Given the description of an element on the screen output the (x, y) to click on. 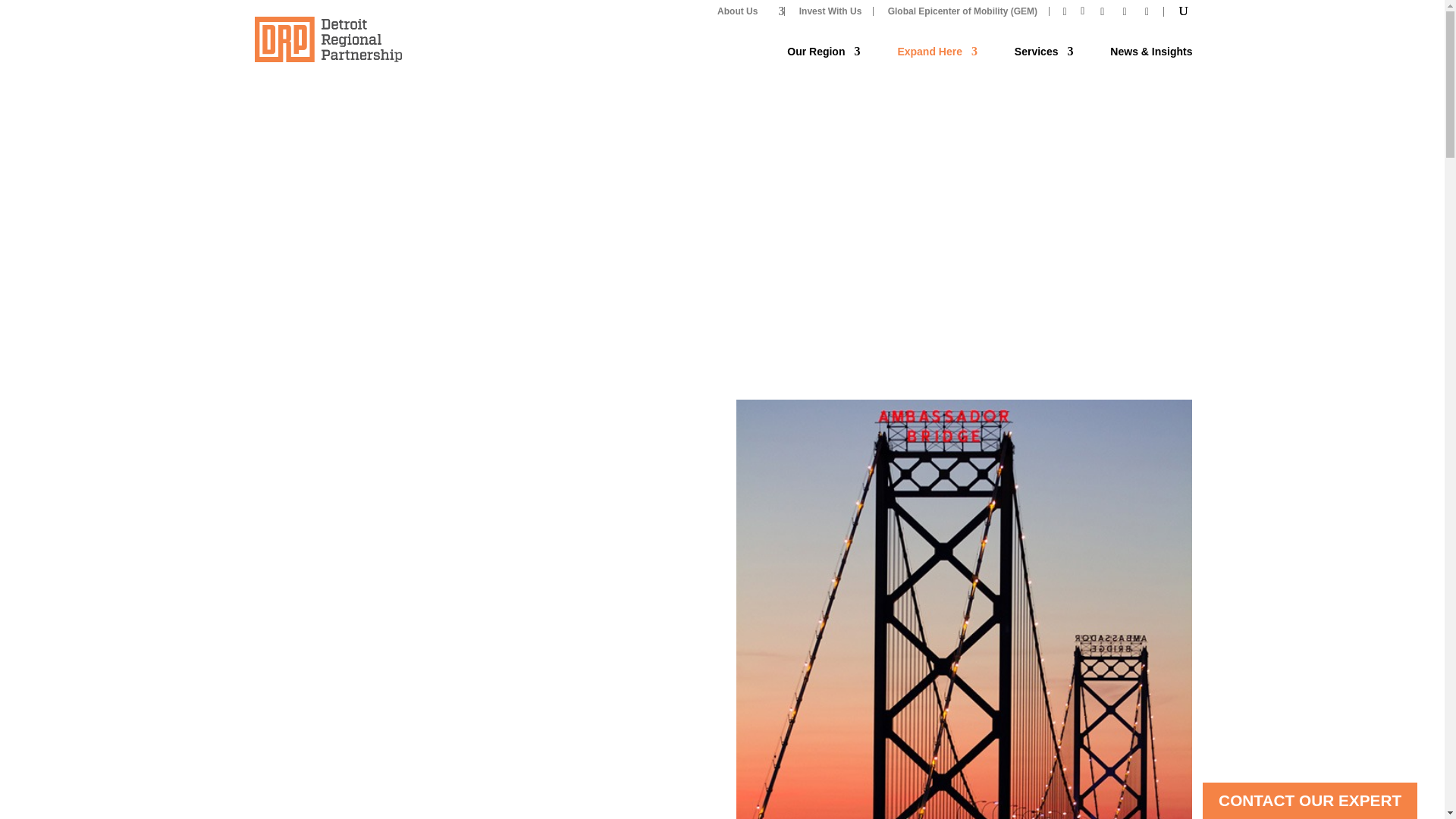
Invest With Us (830, 10)
Expand Here (936, 60)
Our Region (823, 60)
Services (1044, 60)
About Us (745, 10)
